Given the description of an element on the screen output the (x, y) to click on. 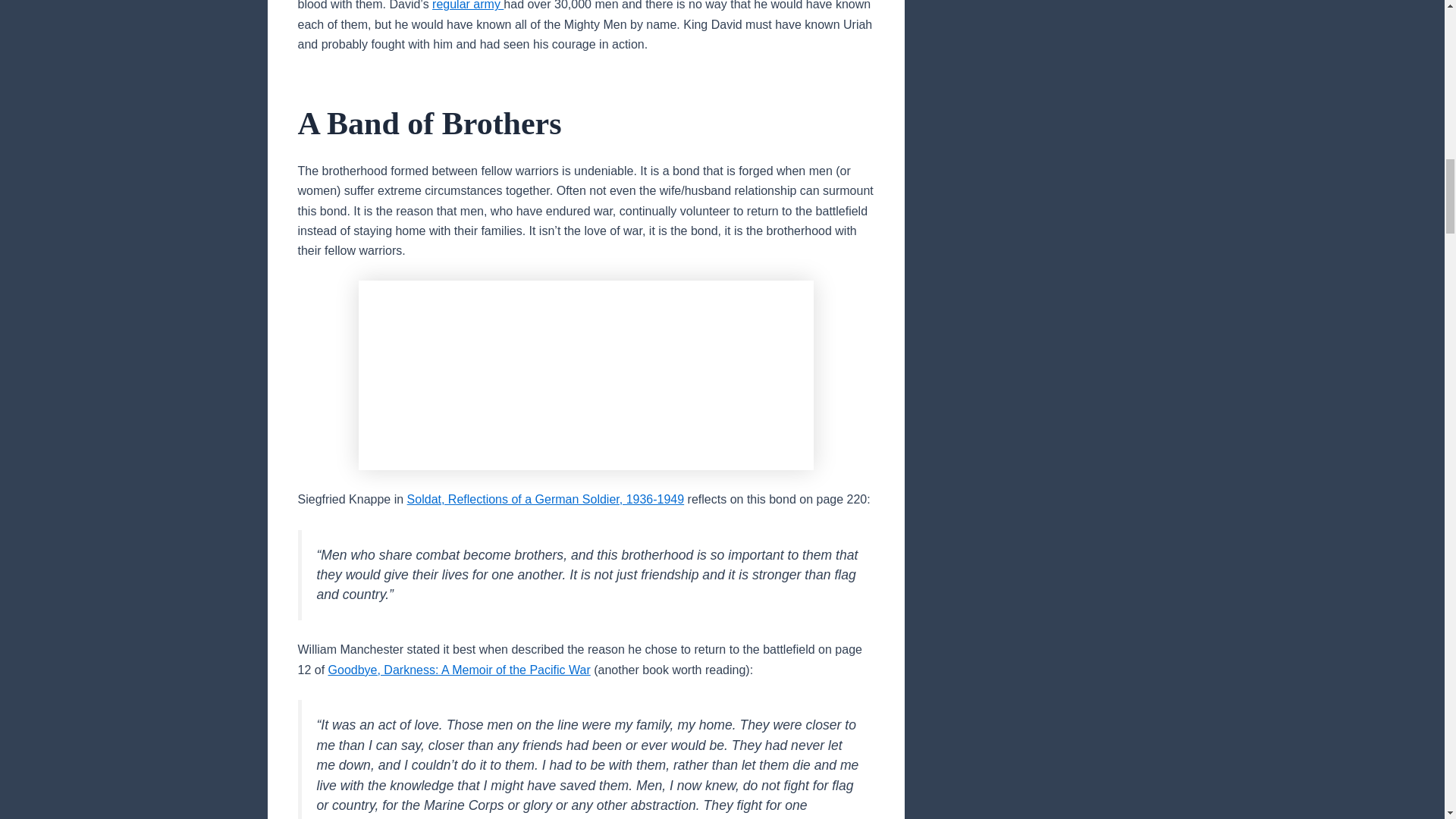
regular army (467, 5)
Soldat, Reflections of a German Soldier, 1936-1949 (545, 499)
Goodbye, Darkness: A Memoir of the Pacific War (460, 669)
